Given the description of an element on the screen output the (x, y) to click on. 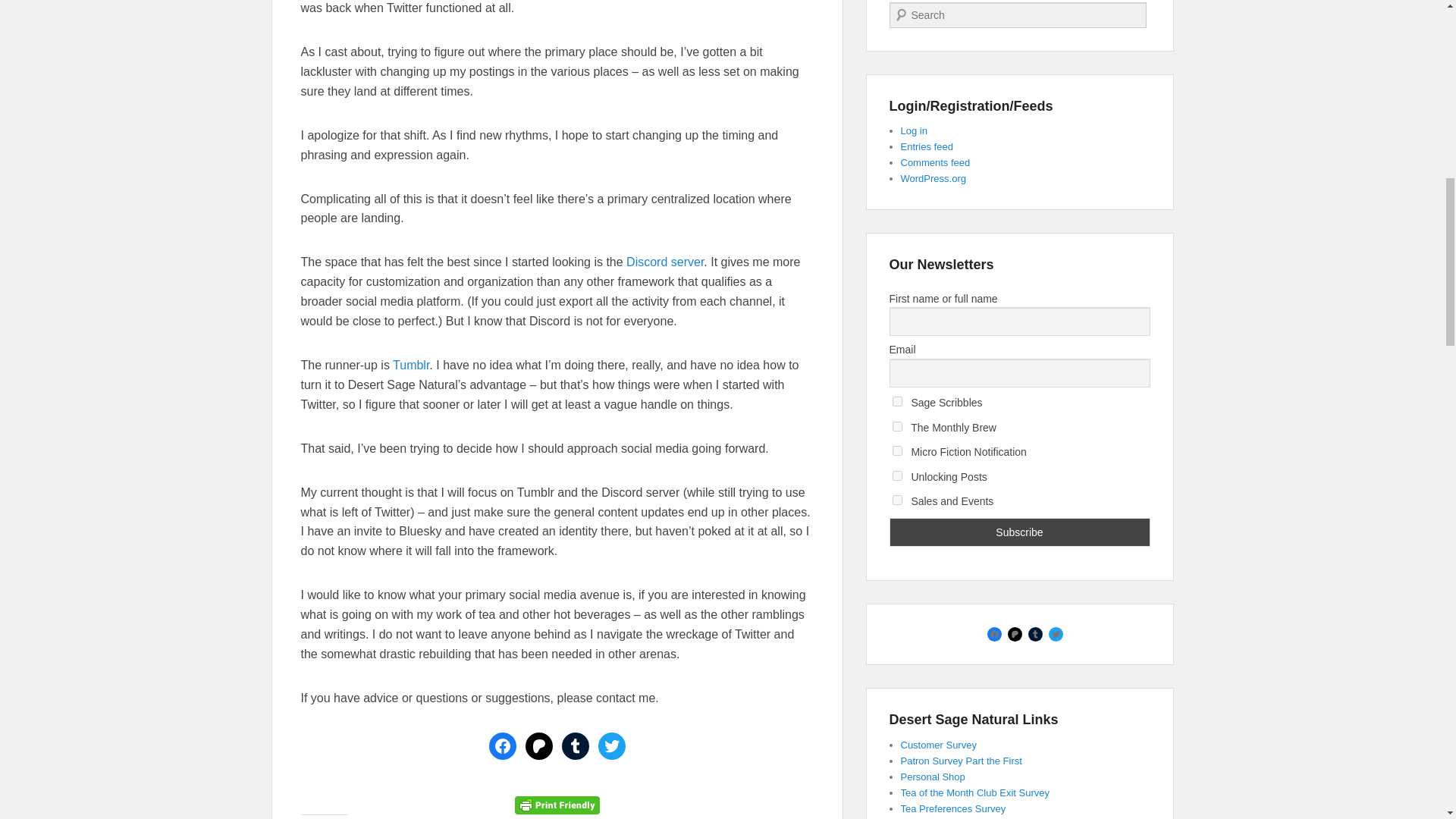
1 (896, 401)
3 (896, 450)
Subscribe (1019, 532)
Patreon (537, 746)
Twitter (610, 746)
Tumblr (411, 364)
4 (896, 475)
Tumblr (574, 746)
2 (896, 426)
Discord server (664, 261)
Facebook (501, 746)
5 (896, 500)
